Given the description of an element on the screen output the (x, y) to click on. 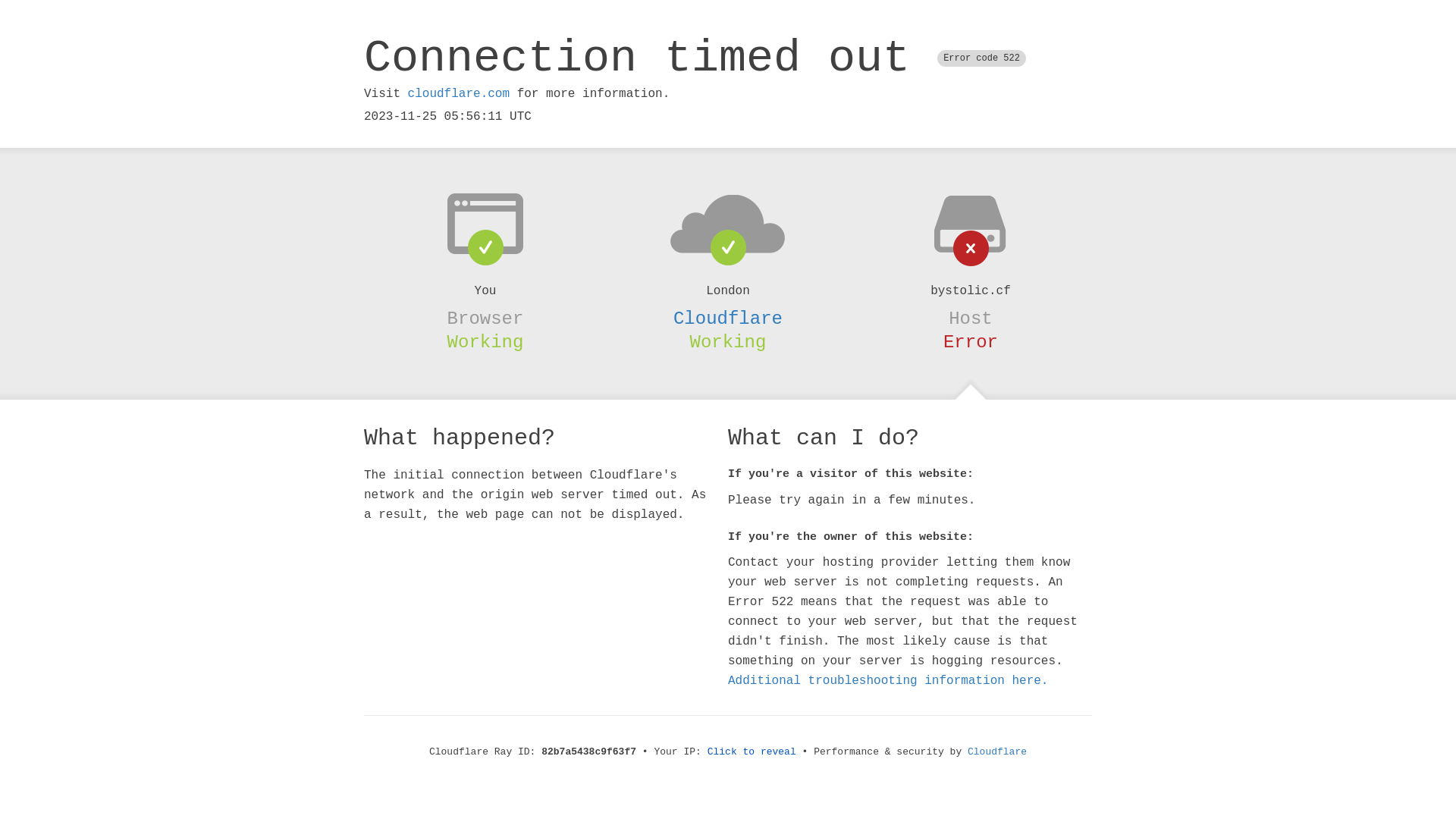
Cloudflare Element type: text (727, 318)
Additional troubleshooting information here. Element type: text (888, 680)
Click to reveal Element type: text (751, 751)
cloudflare.com Element type: text (458, 93)
Cloudflare Element type: text (996, 751)
